Given the description of an element on the screen output the (x, y) to click on. 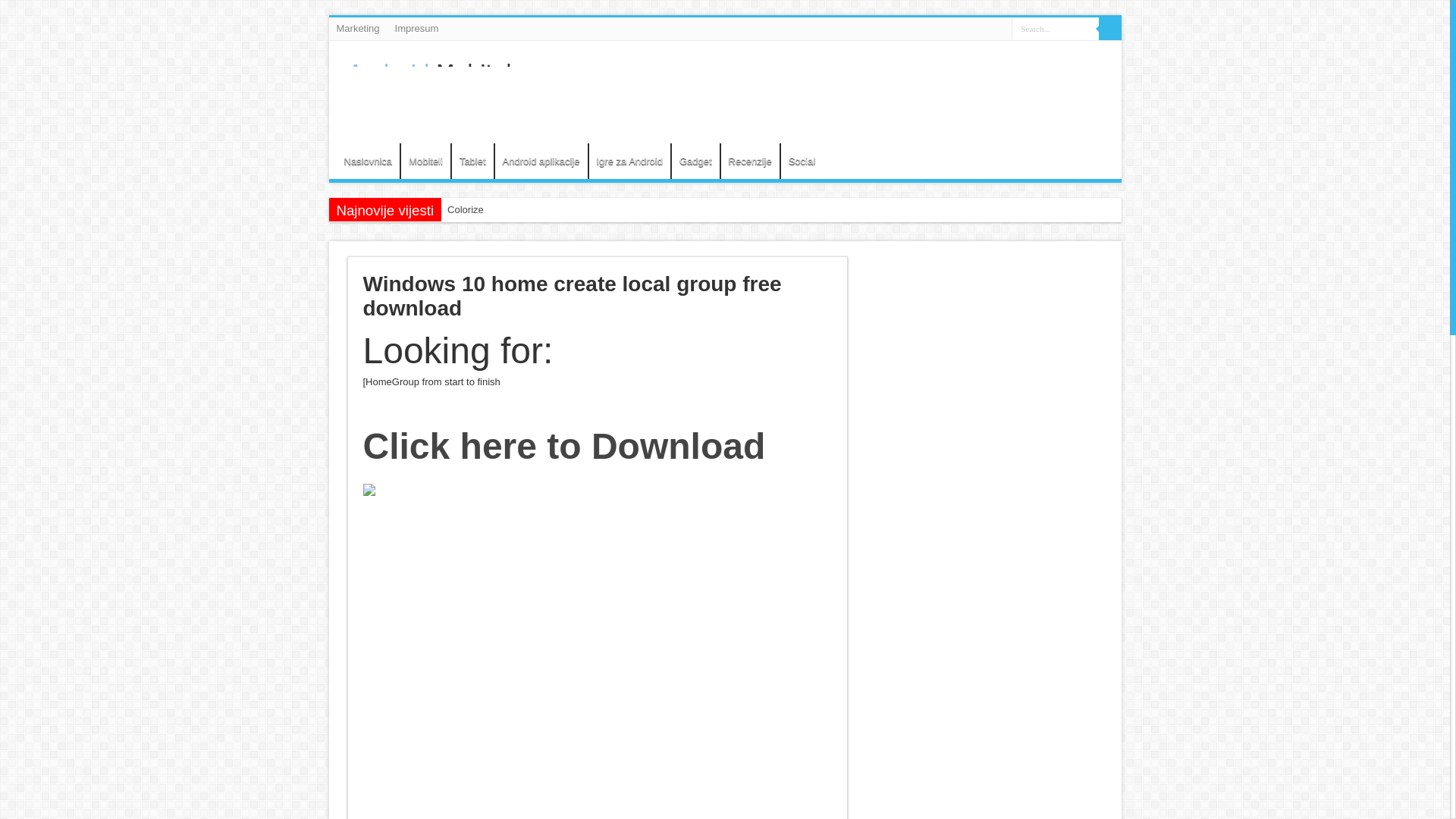
CoreSpecs (508, 232)
Social (801, 161)
Gadget (695, 161)
Android aplikacije (541, 161)
Colorize (508, 209)
Naslovnica (368, 161)
Search (1109, 28)
Impresum (416, 28)
Marketing (358, 28)
CoreSpecs (508, 232)
